Given the description of an element on the screen output the (x, y) to click on. 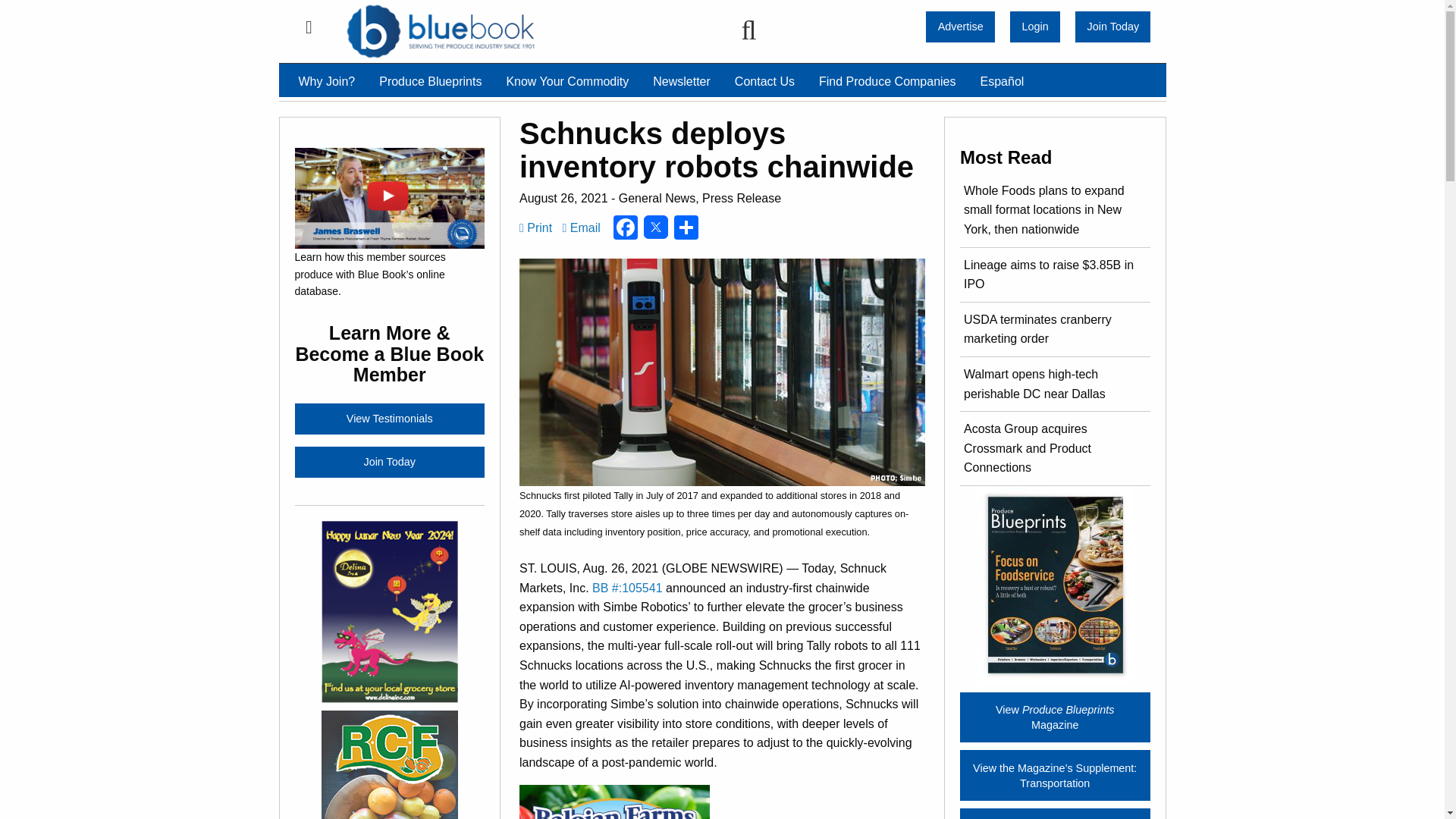
Video Library (389, 418)
Know Your Commodity (566, 81)
Twitter (655, 229)
Facebook (625, 229)
schnucks tally (721, 371)
Why Join? (327, 81)
Login (1034, 26)
Join Today (1112, 26)
Produce Blueprints (429, 81)
Advertise (960, 26)
